Given the description of an element on the screen output the (x, y) to click on. 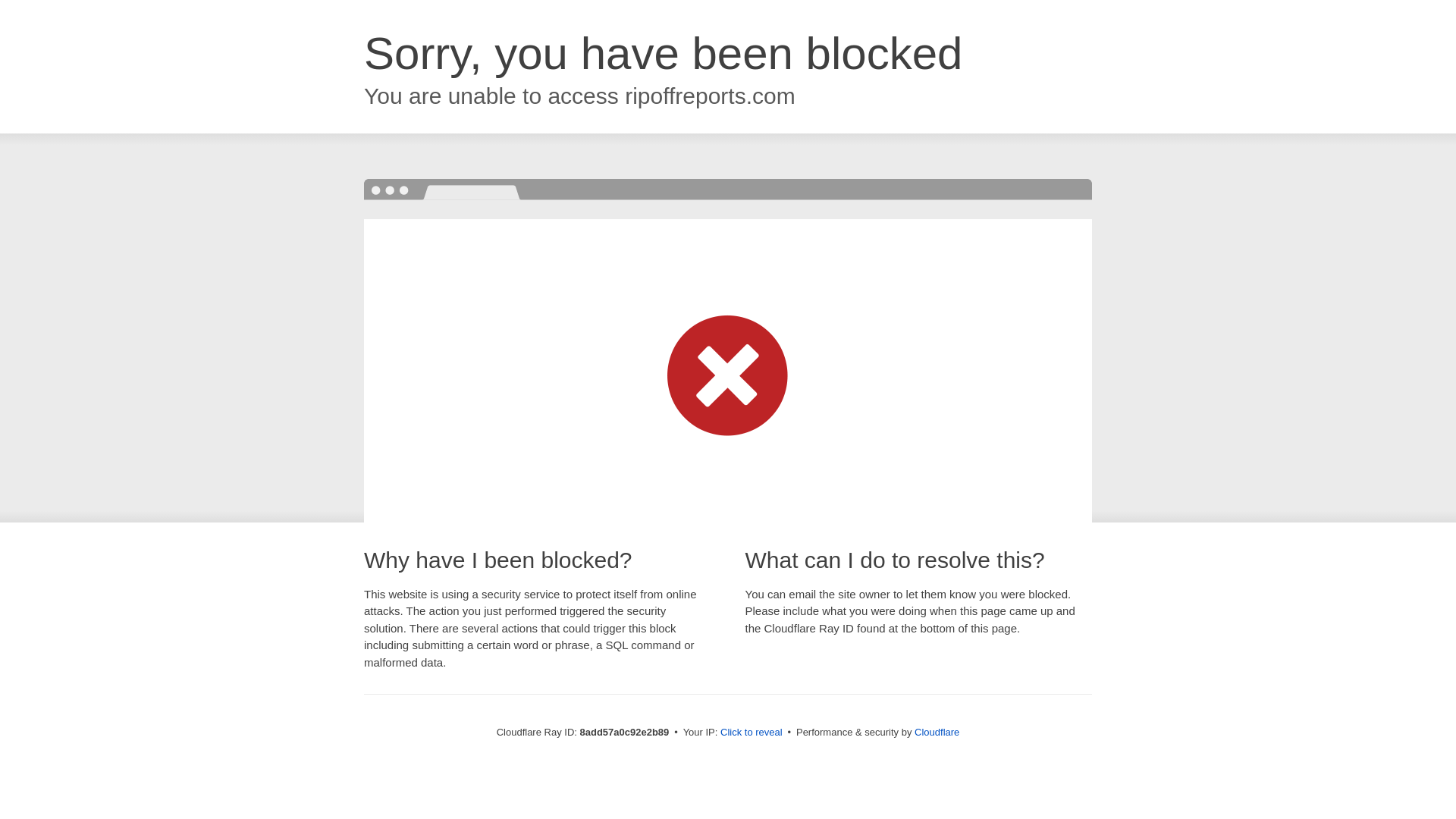
Cloudflare (936, 731)
Click to reveal (751, 732)
